Given the description of an element on the screen output the (x, y) to click on. 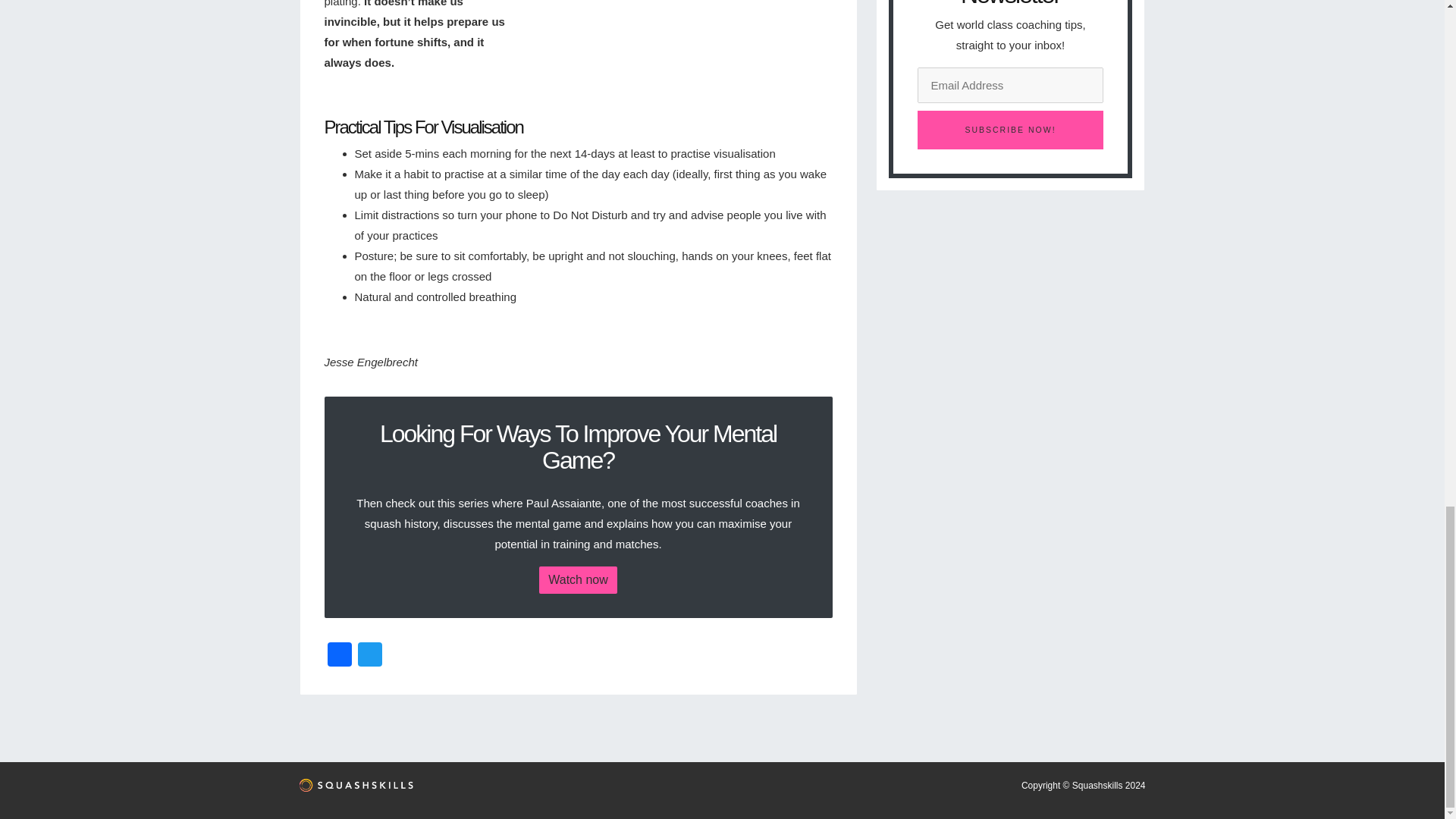
SquashSkills Blog (355, 784)
Twitter (370, 656)
SquashSkills Blog (355, 789)
Twitter (370, 656)
Subscribe Now! (1010, 129)
Watch now (577, 579)
Facebook (339, 656)
Facebook (339, 656)
